Given the description of an element on the screen output the (x, y) to click on. 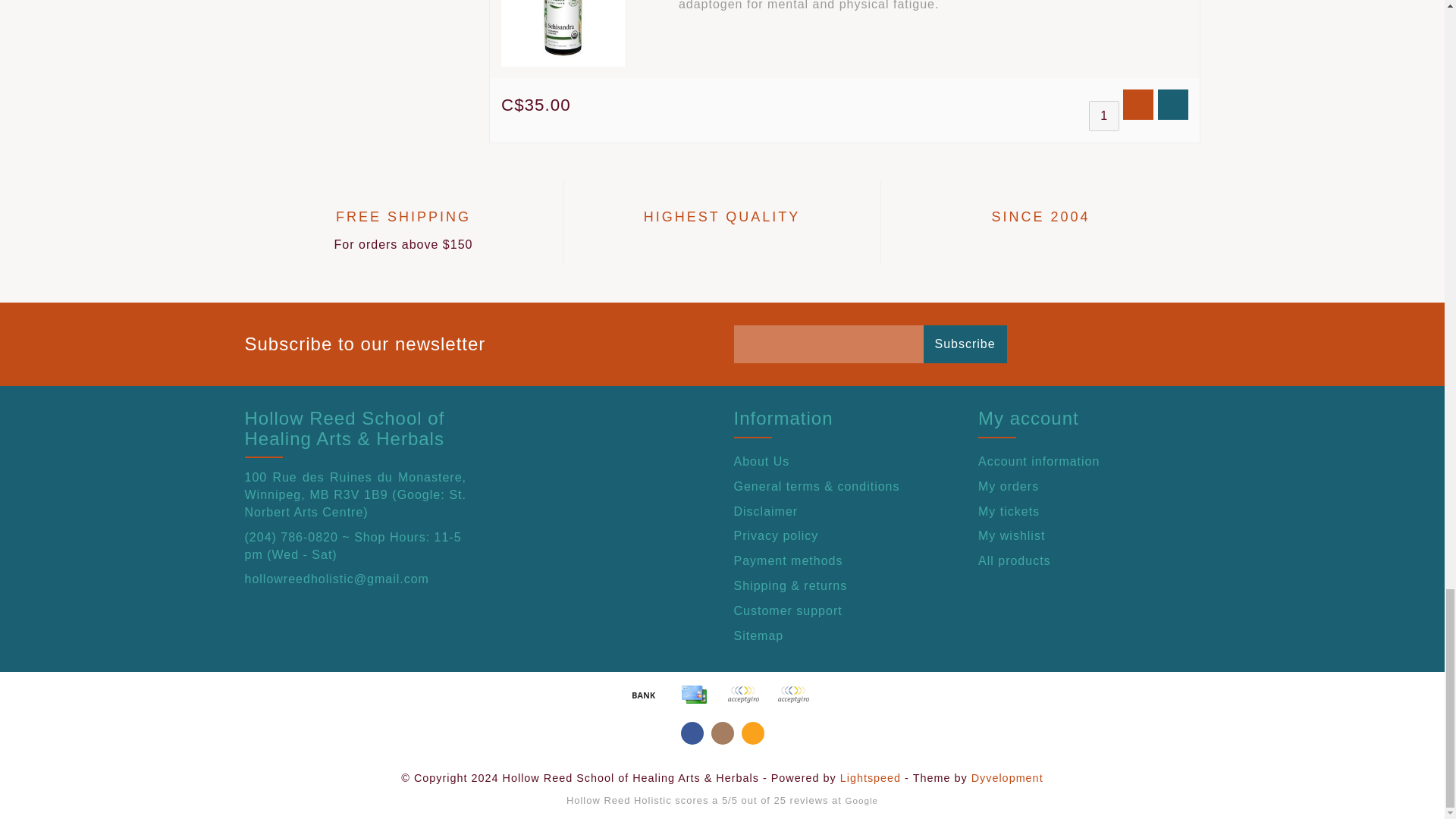
1 (1104, 115)
About Us (844, 462)
Subscribe (965, 344)
St Francis Schisandra 100ml (562, 33)
